Given the description of an element on the screen output the (x, y) to click on. 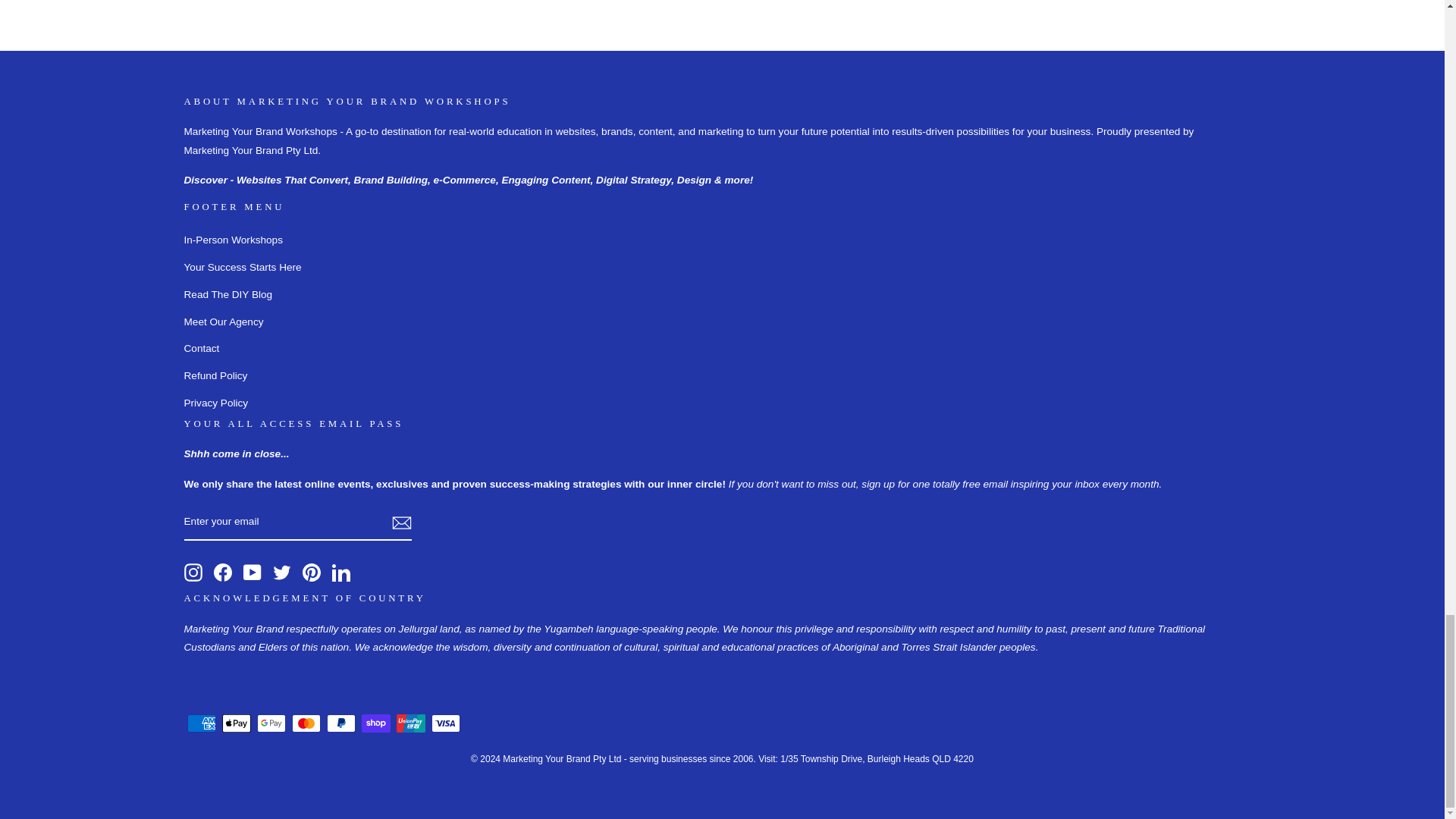
Marketing Your Brand Pty Ltd  on Instagram (192, 572)
Marketing Your Brand Pty Ltd  on Facebook (222, 572)
icon-email (400, 523)
